Given the description of an element on the screen output the (x, y) to click on. 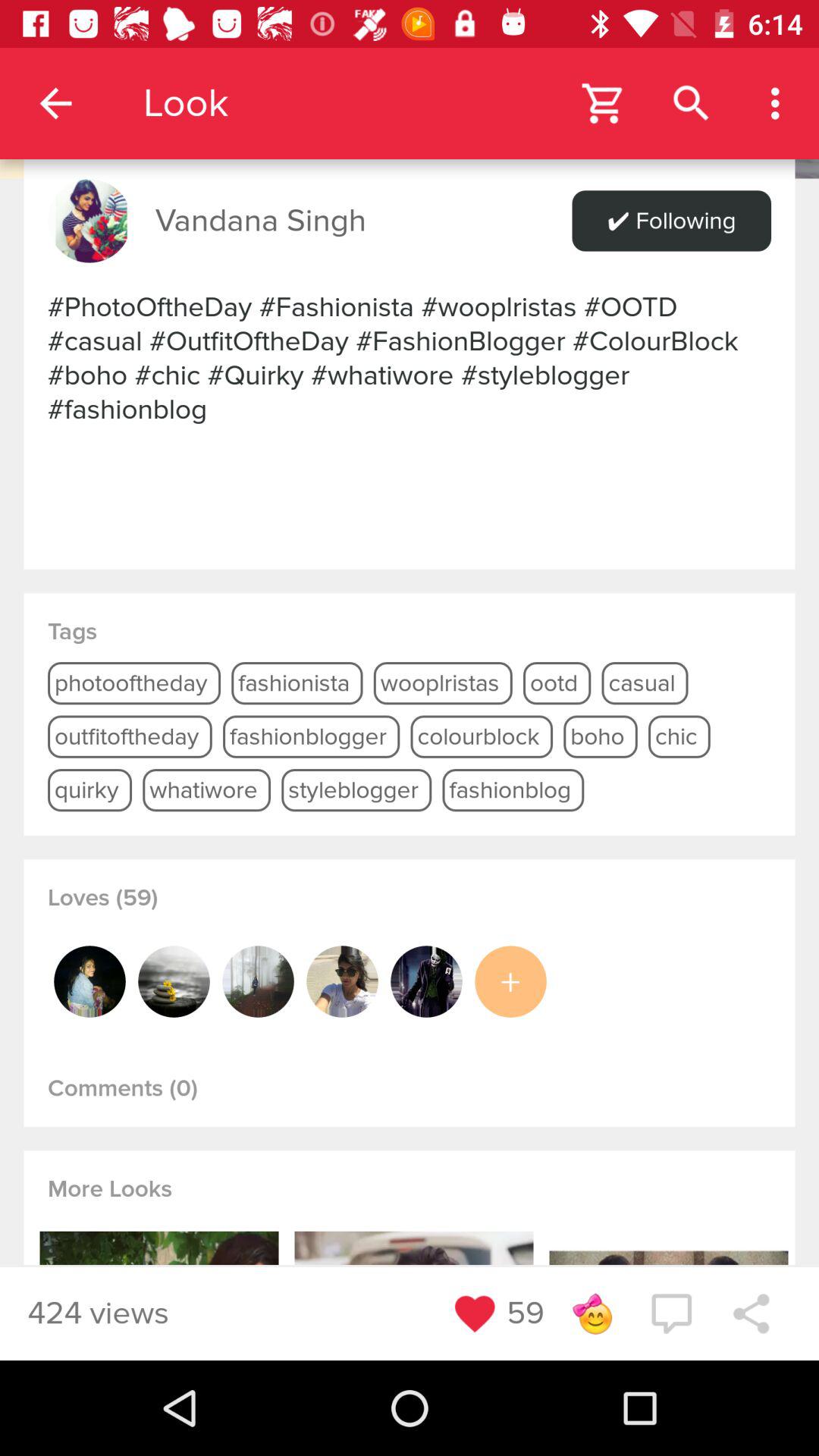
view person 's page (258, 981)
